Given the description of an element on the screen output the (x, y) to click on. 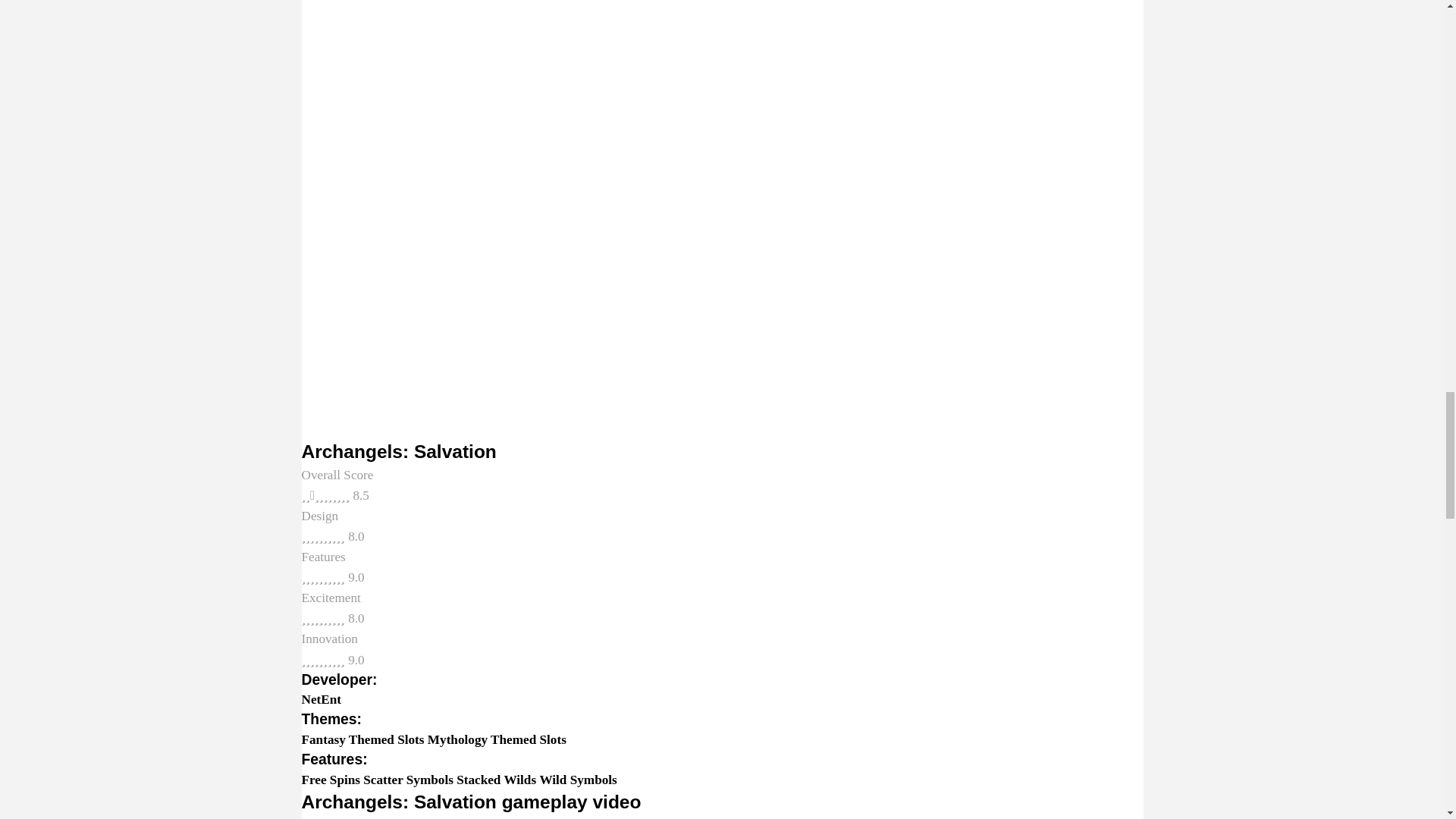
More slots from NetEnt (321, 699)
Free Spins (331, 780)
NetEnt (321, 699)
Stacked Wilds (496, 780)
Fantasy Themed Slots (363, 739)
Wild Symbols (576, 780)
Mythology Themed Slots (497, 739)
Scatter Symbols (407, 780)
Slots with Fantasy Themed Slots (363, 739)
